Given the description of an element on the screen output the (x, y) to click on. 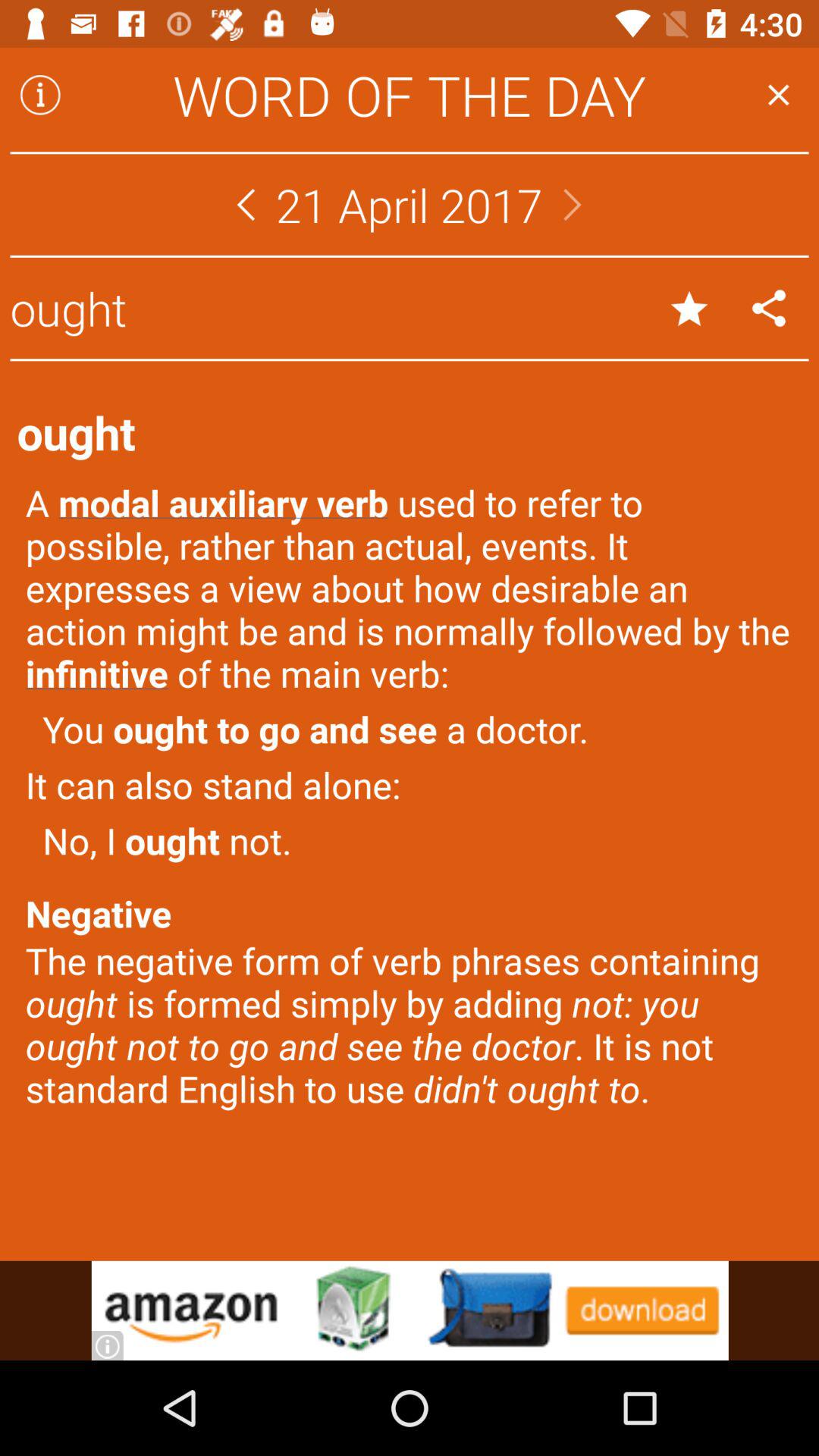
share the article (768, 307)
